Given the description of an element on the screen output the (x, y) to click on. 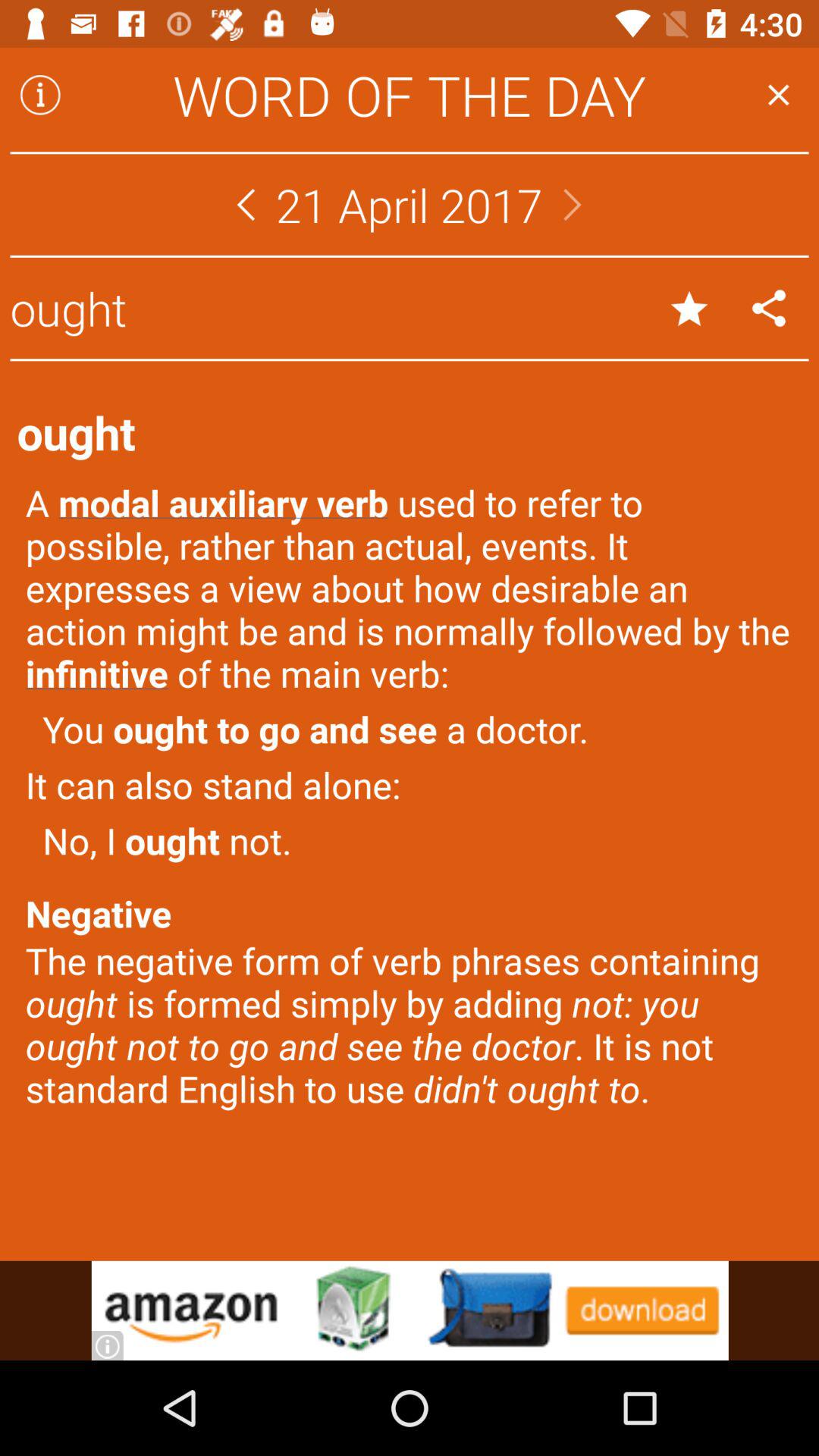
share the article (768, 307)
